Given the description of an element on the screen output the (x, y) to click on. 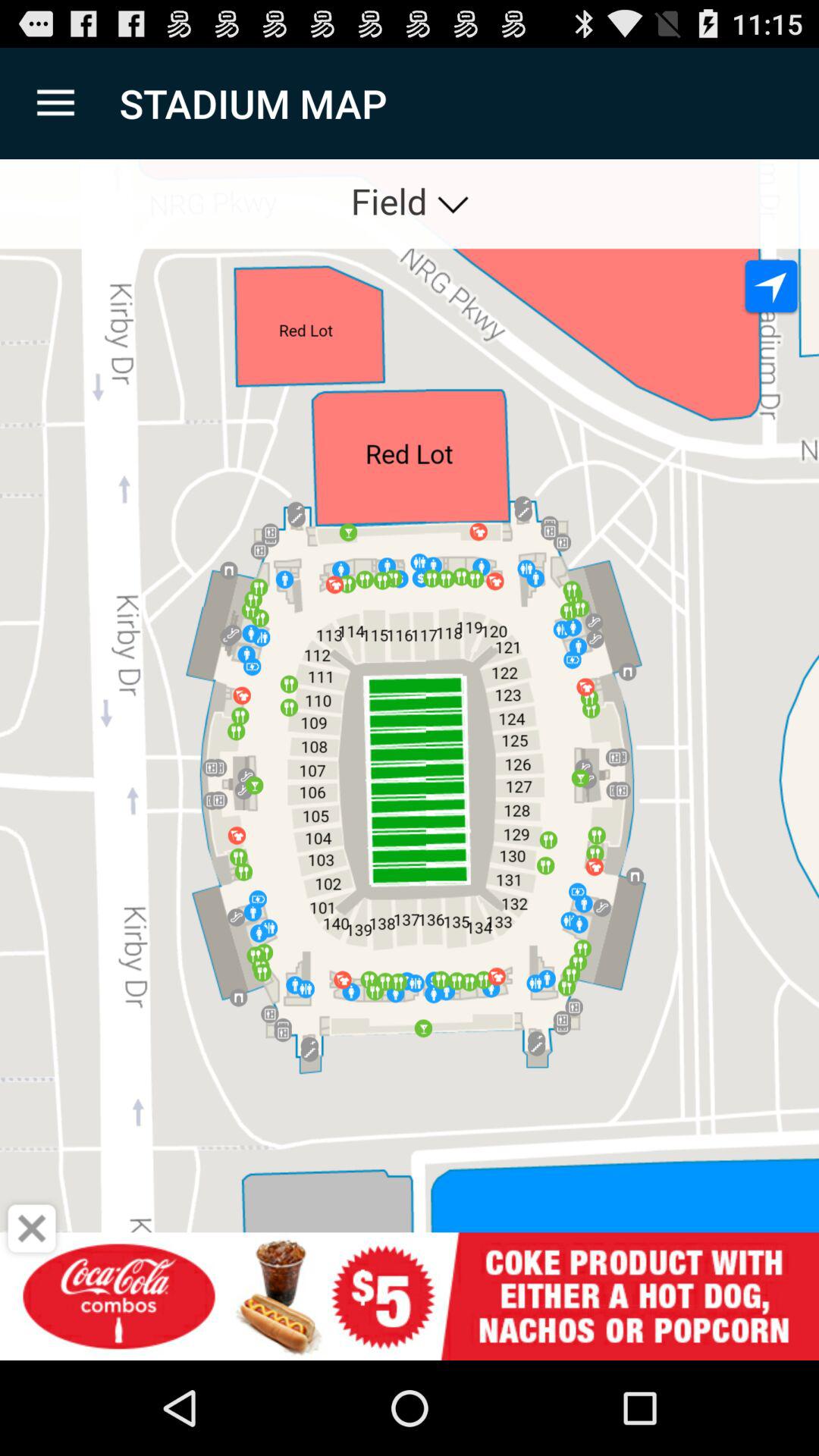
open advert (409, 1296)
